Given the description of an element on the screen output the (x, y) to click on. 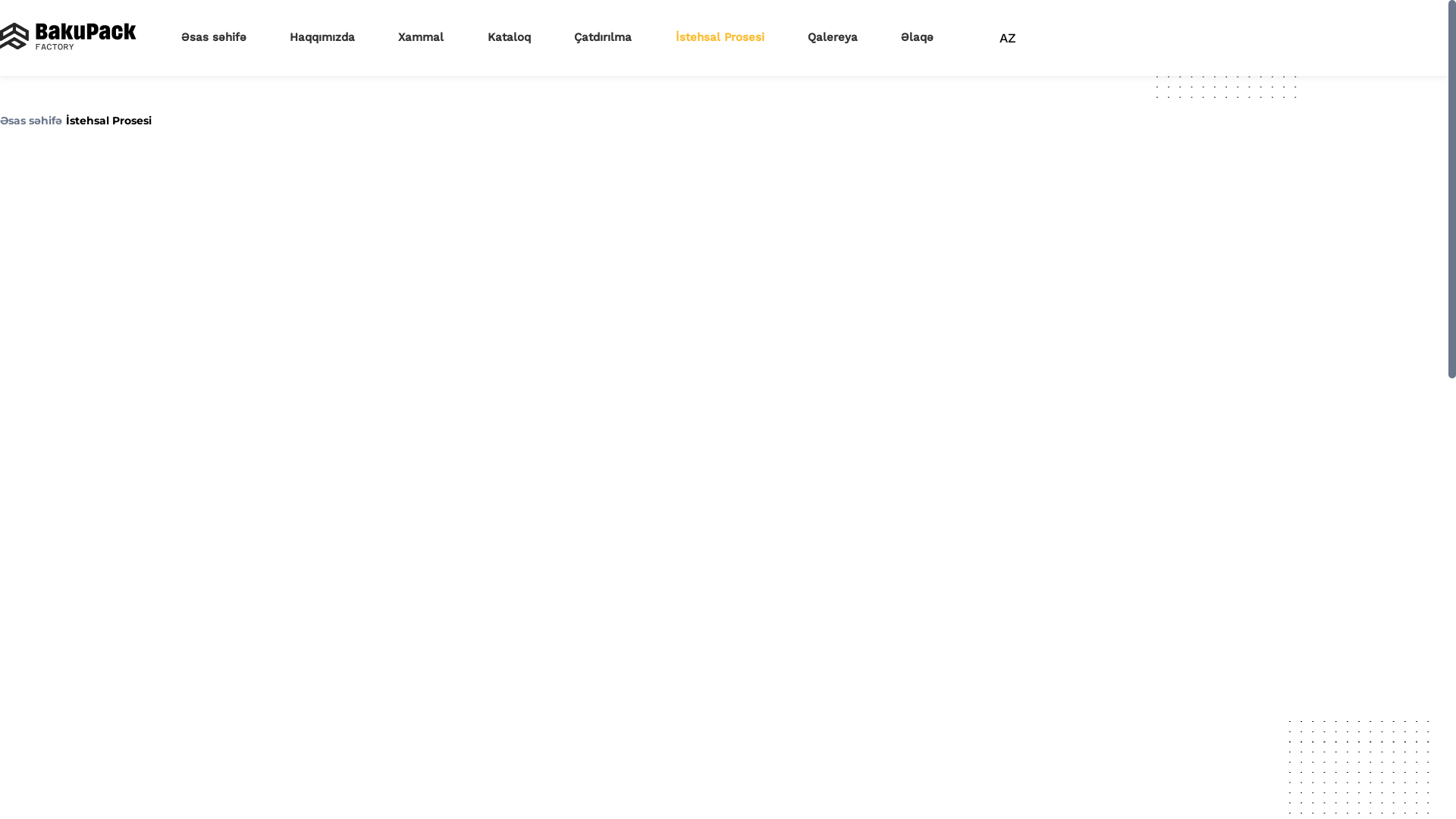
6 Element type: text (495, 185)
Kataloq Element type: text (508, 36)
7 Element type: text (483, 206)
3 Element type: text (482, 124)
2 Element type: text (487, 103)
11 Element type: text (493, 267)
Xammal Element type: text (420, 36)
Qalereya Element type: text (832, 36)
9 Element type: text (484, 247)
12 Element type: text (492, 288)
8 Element type: text (494, 226)
4 Element type: text (488, 144)
13 Element type: text (480, 308)
5 Element type: text (508, 165)
